Given the description of an element on the screen output the (x, y) to click on. 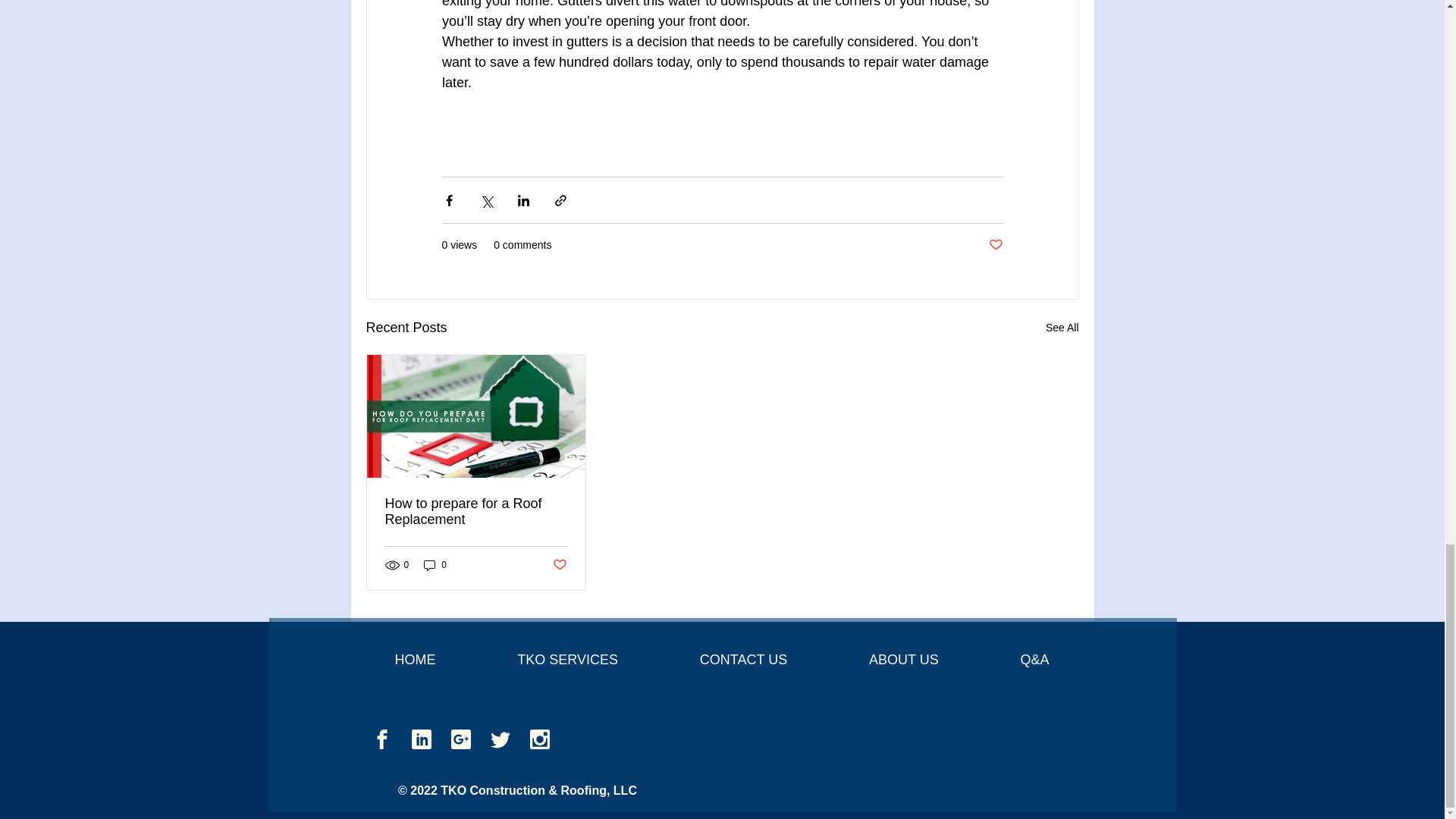
How to prepare for a Roof Replacement (476, 511)
0 (435, 564)
HOME (414, 659)
Post not marked as liked (995, 245)
Post not marked as liked (558, 564)
See All (1061, 327)
